Given the description of an element on the screen output the (x, y) to click on. 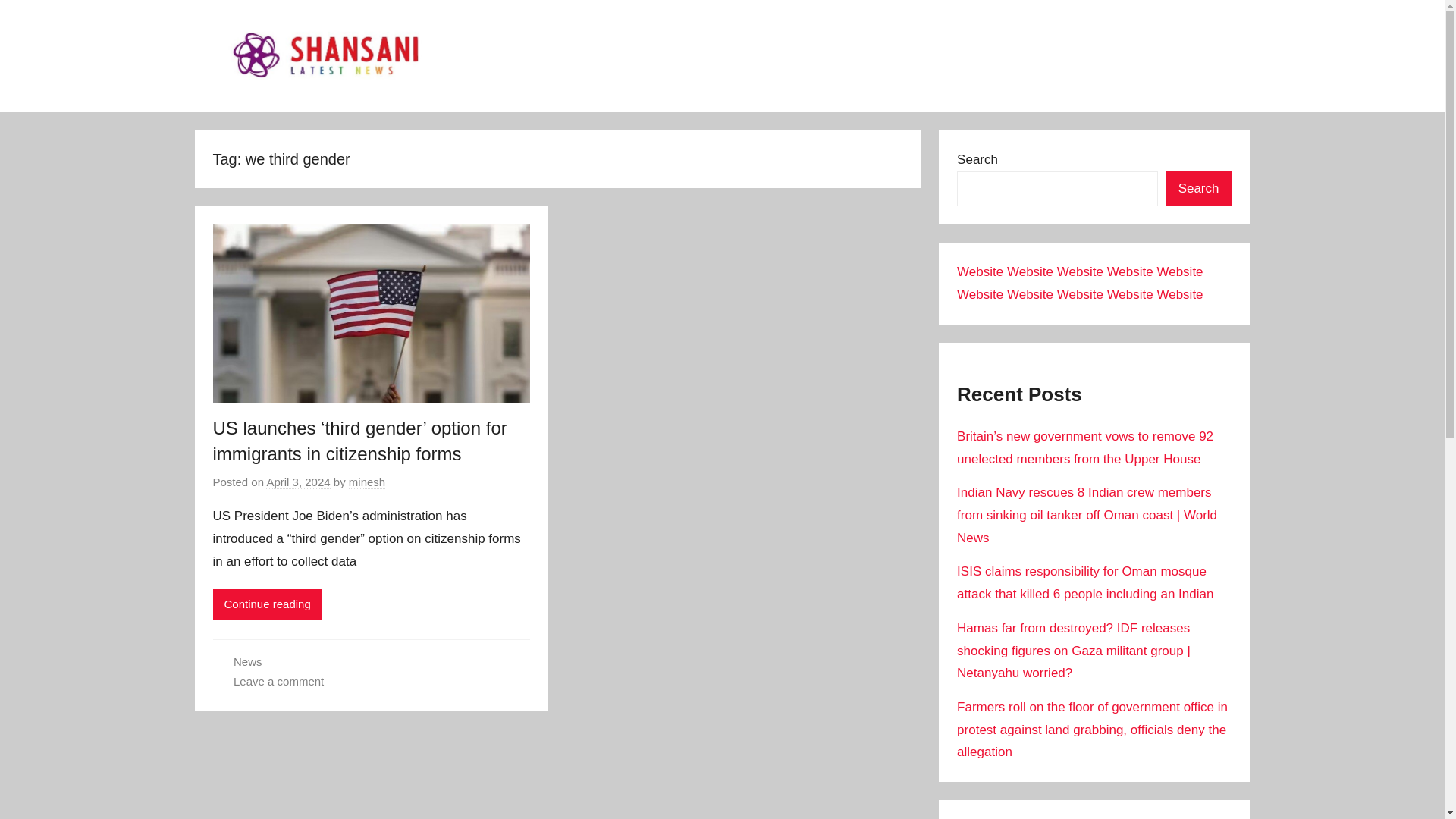
Search (1198, 189)
Website (1080, 294)
News (247, 661)
Website (1179, 271)
April 3, 2024 (298, 481)
Leave a comment (277, 680)
Website (1129, 294)
Website (1129, 271)
Website (979, 271)
View all posts by minesh (367, 481)
Website (1080, 271)
Website (979, 294)
Continue reading (266, 603)
